Given the description of an element on the screen output the (x, y) to click on. 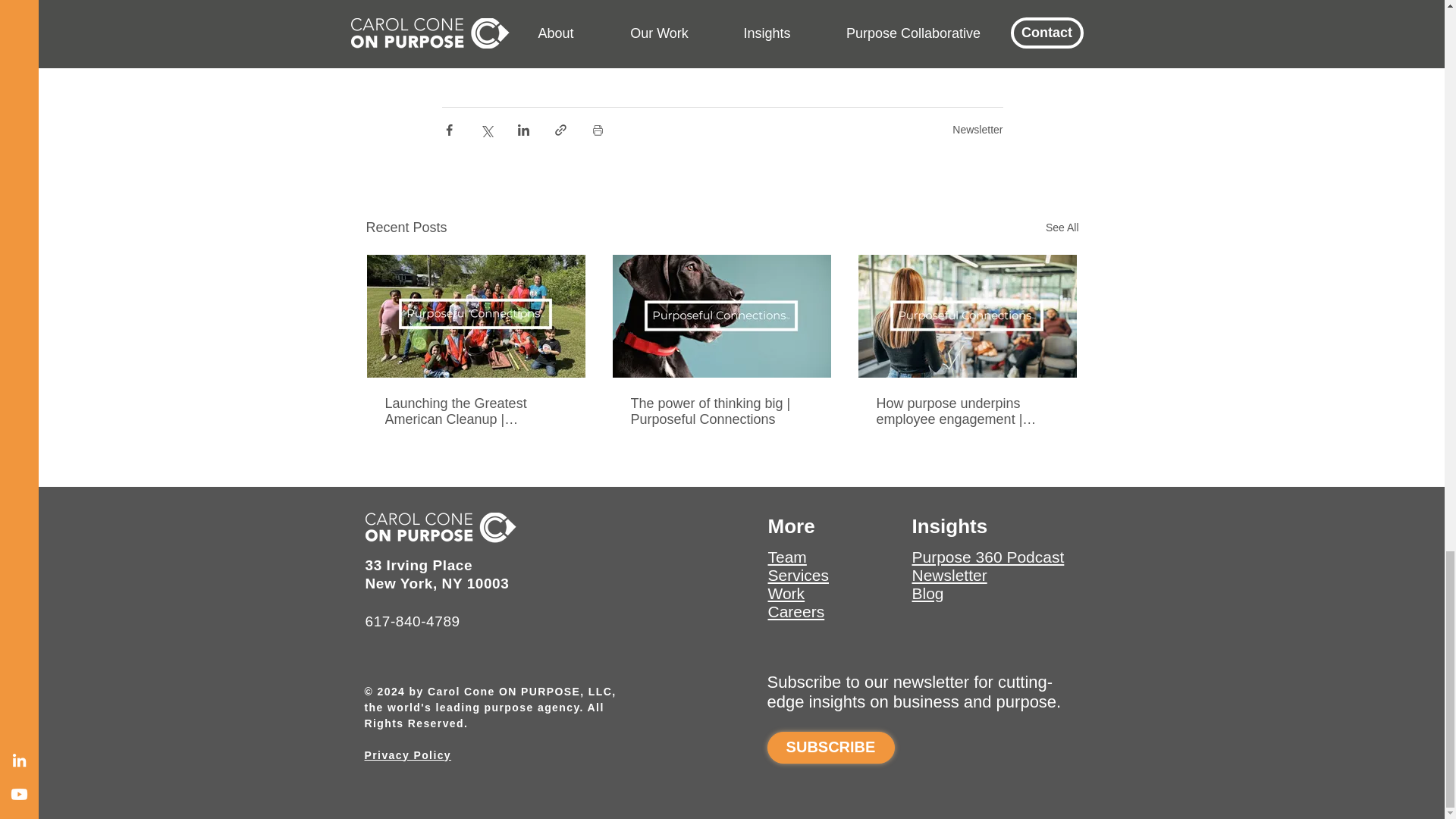
See All (1061, 228)
Listen to the episode here (513, 1)
Newsletter (977, 129)
